Given the description of an element on the screen output the (x, y) to click on. 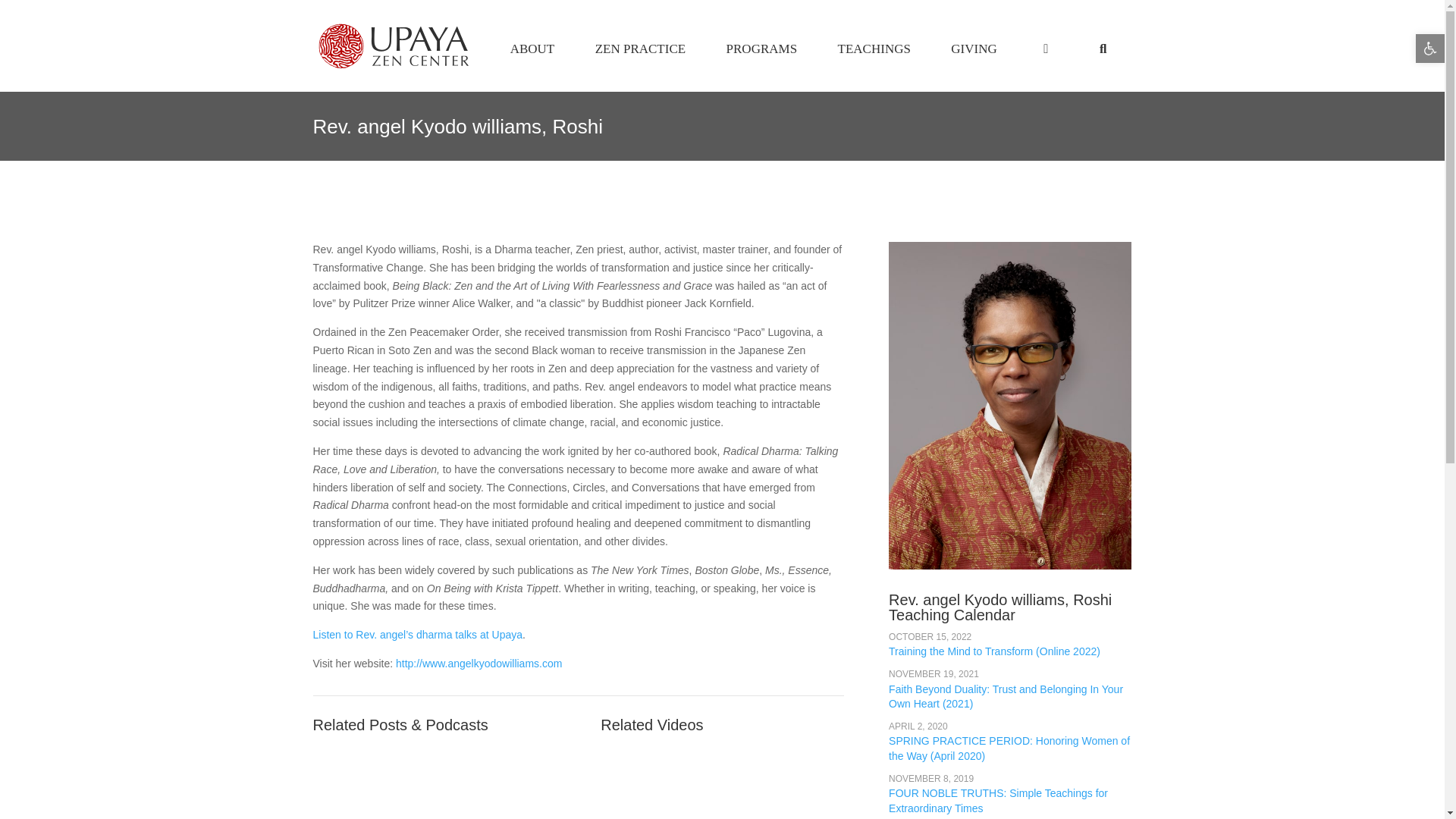
ZEN PRACTICE (640, 48)
TEACHINGS (722, 48)
GIVING (873, 48)
Accessibility Tools (974, 48)
ABOUT (1430, 48)
PROGRAMS (532, 48)
